Given the description of an element on the screen output the (x, y) to click on. 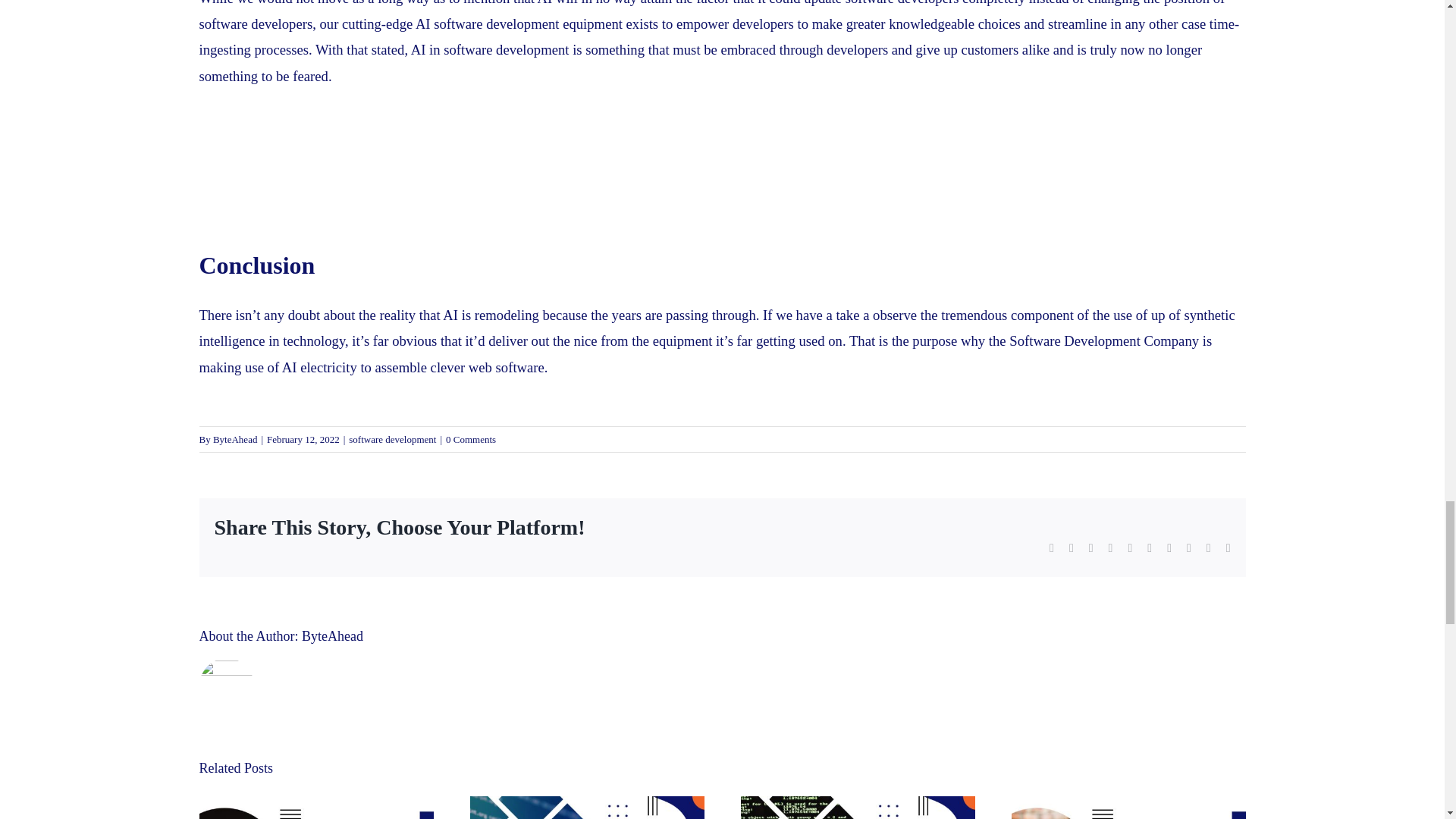
Will AI Replace Software Developers (731, 184)
Posts by ByteAhead (234, 439)
software development (506, 49)
ByteAhead (234, 439)
0 Comments (470, 439)
Posts by ByteAhead (331, 635)
software development (392, 439)
ByteAhead (331, 635)
